Given the description of an element on the screen output the (x, y) to click on. 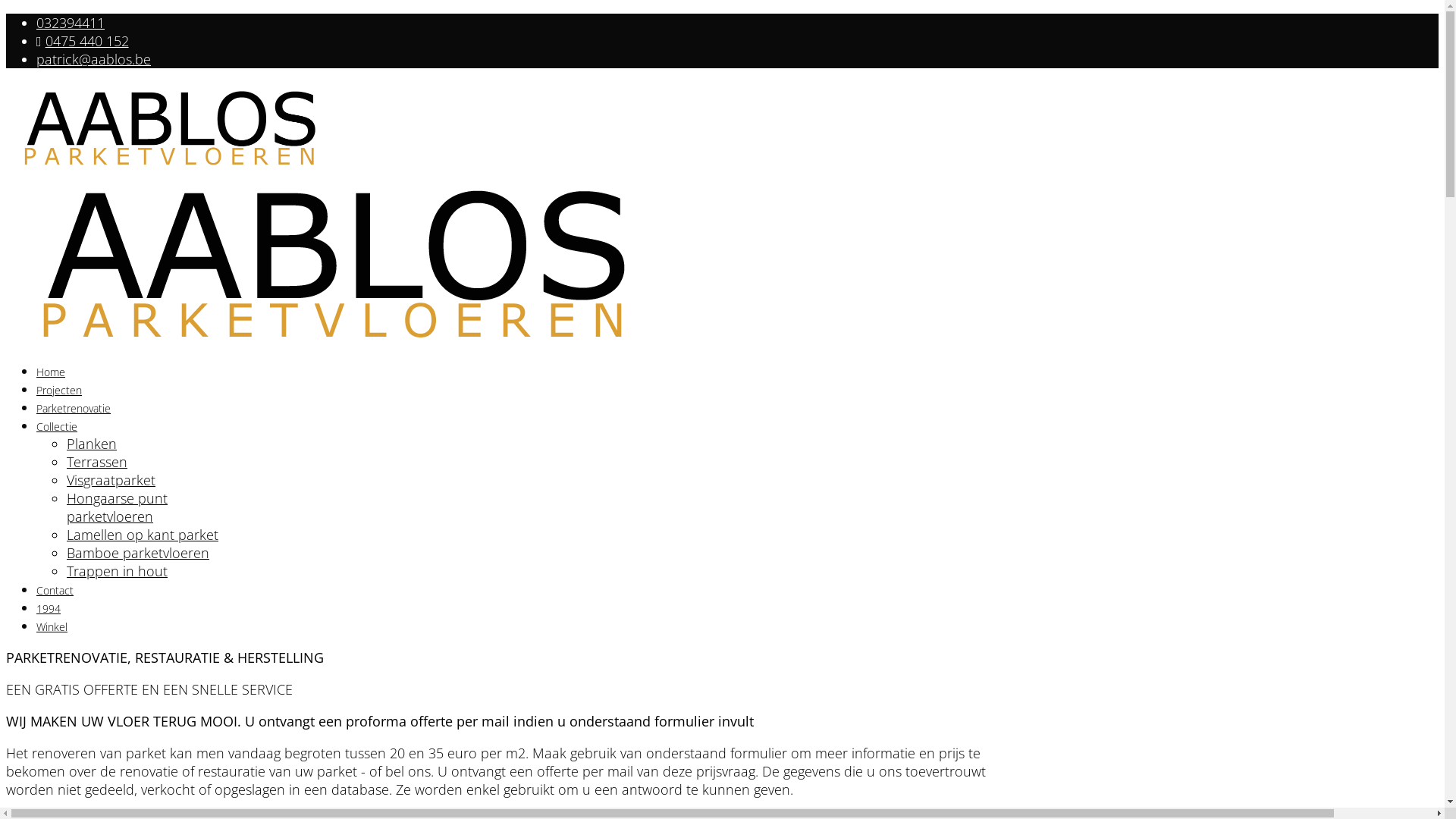
Trappen in hout Element type: text (116, 570)
Collectie Element type: text (56, 425)
0475 440 152 Element type: text (86, 40)
patrick@aablos.be Element type: text (93, 59)
Parketrenovatie Element type: text (73, 407)
1994 Element type: text (48, 607)
032394411 Element type: text (70, 22)
Contact Element type: text (54, 589)
Planken Element type: text (91, 442)
Hongaarse punt parketvloeren Element type: text (116, 506)
Terrassen Element type: text (96, 460)
Home Element type: text (50, 371)
Winkel Element type: text (51, 625)
Lamellen op kant parket Element type: text (142, 533)
Projecten Element type: text (58, 389)
Bamboe parketvloeren Element type: text (137, 551)
Visgraatparket Element type: text (110, 479)
